Given the description of an element on the screen output the (x, y) to click on. 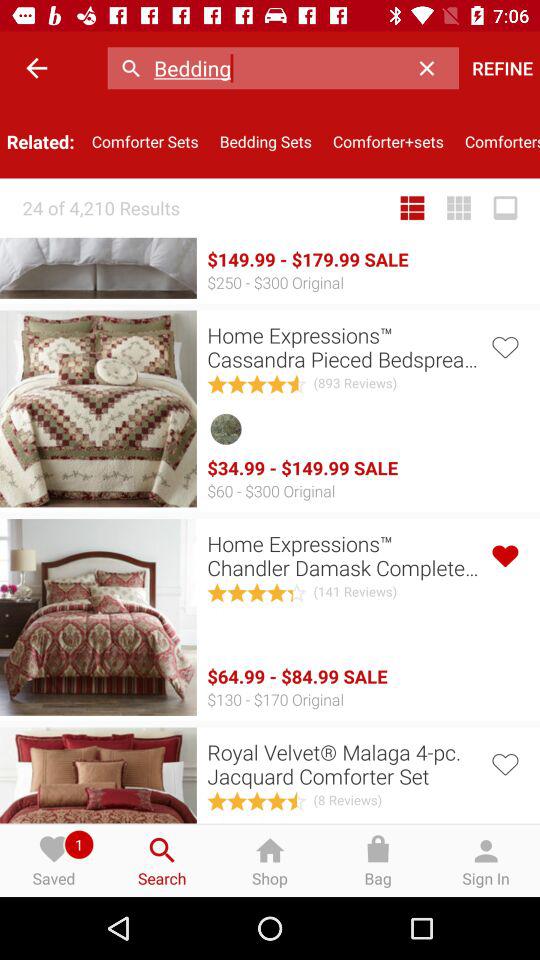
turn off icon next to comforter sets icon (265, 141)
